Given the description of an element on the screen output the (x, y) to click on. 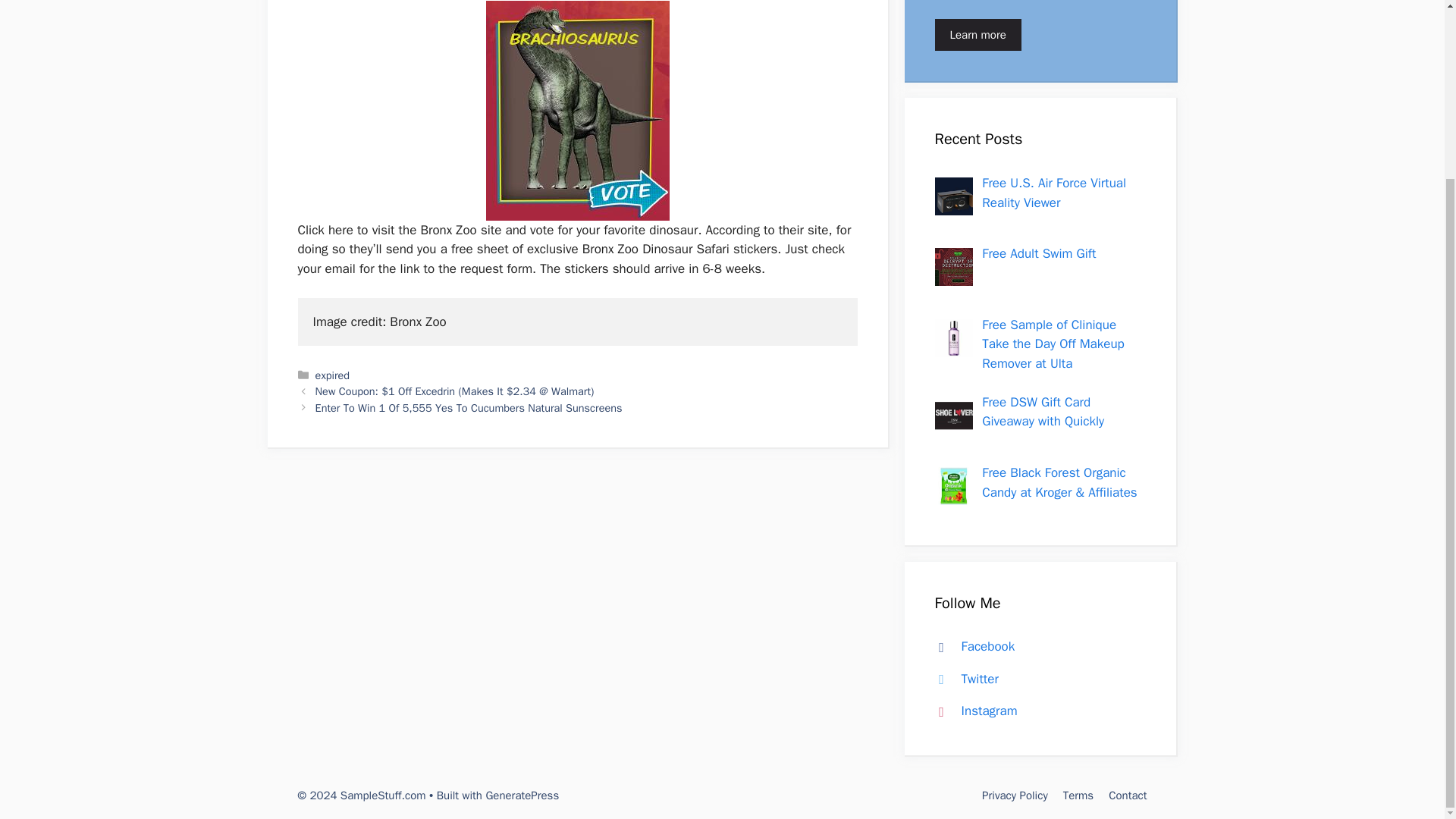
Free Adult Swim Gift (1038, 253)
Privacy Policy (1014, 795)
GeneratePress (521, 795)
Facebook (971, 646)
Twitter (962, 678)
Learn more (977, 34)
Contact (1127, 795)
Next (469, 407)
Previous (454, 391)
Instagram (972, 710)
